Given the description of an element on the screen output the (x, y) to click on. 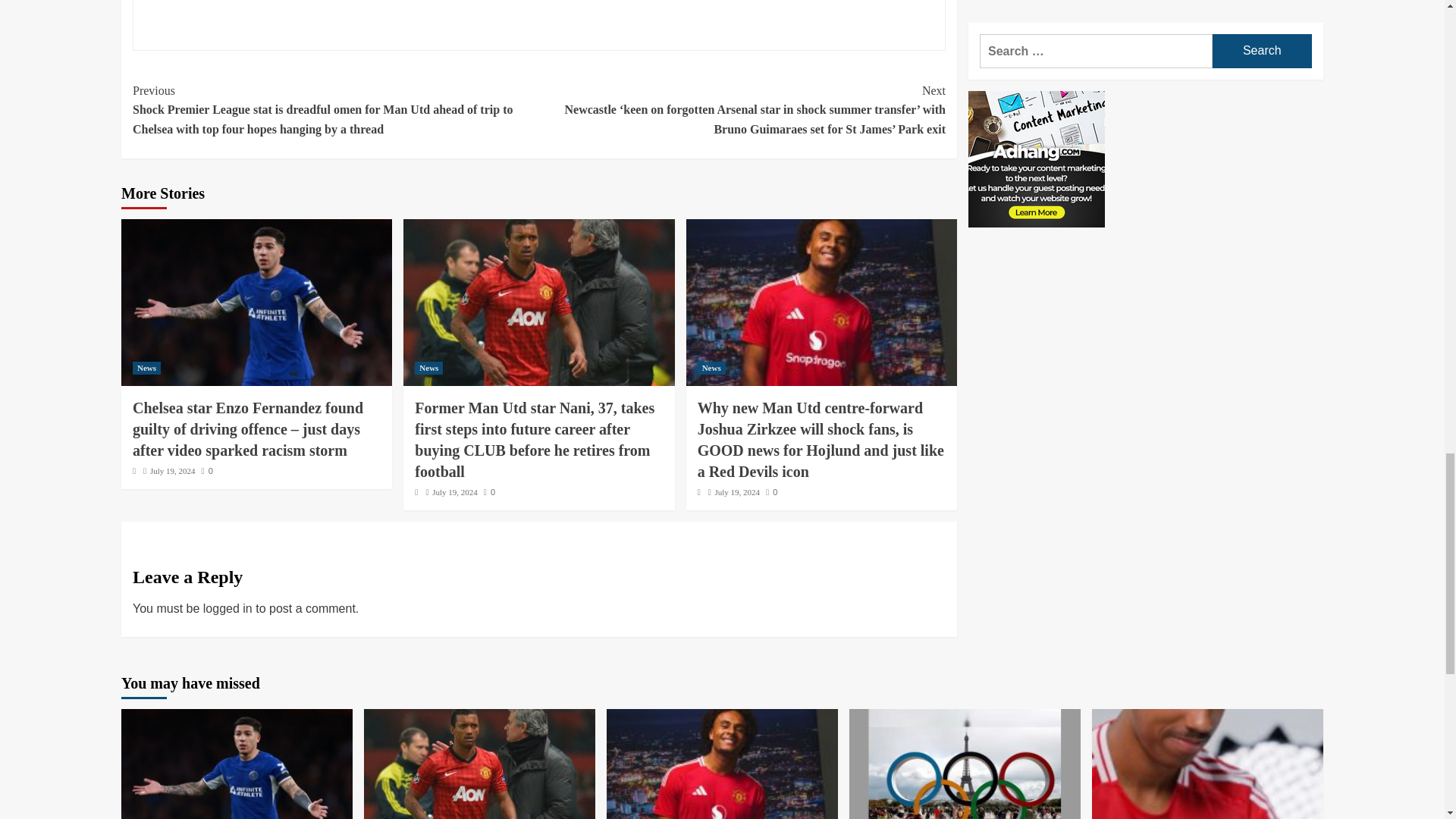
News (711, 367)
News (146, 367)
News (428, 367)
0 (207, 470)
July 19, 2024 (454, 491)
July 19, 2024 (172, 470)
0 (489, 491)
